Given the description of an element on the screen output the (x, y) to click on. 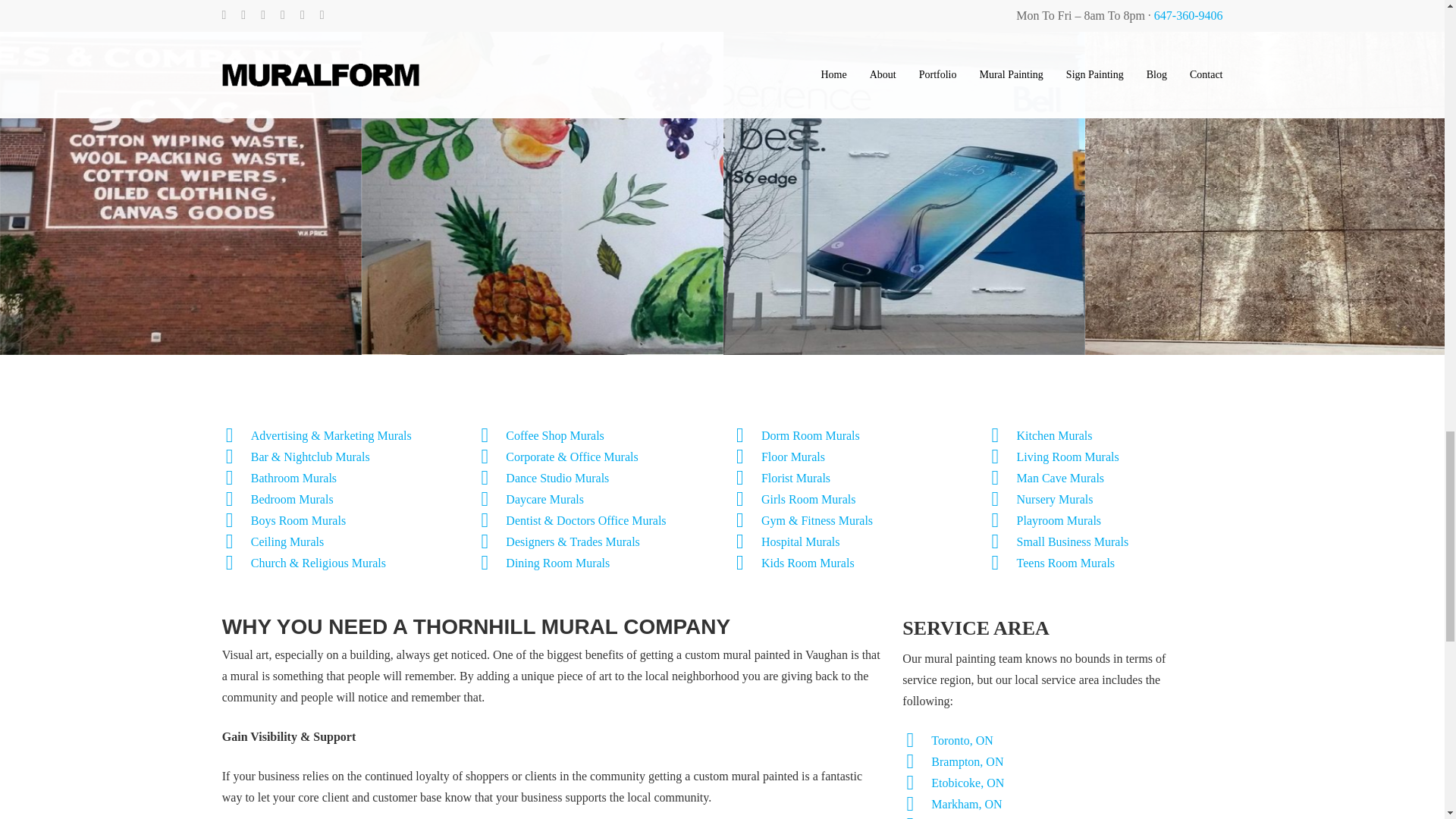
Boys Room Murals (298, 520)
Bathroom Murals (293, 477)
Ceiling Murals (286, 541)
Bedroom Murals (291, 499)
